Given the description of an element on the screen output the (x, y) to click on. 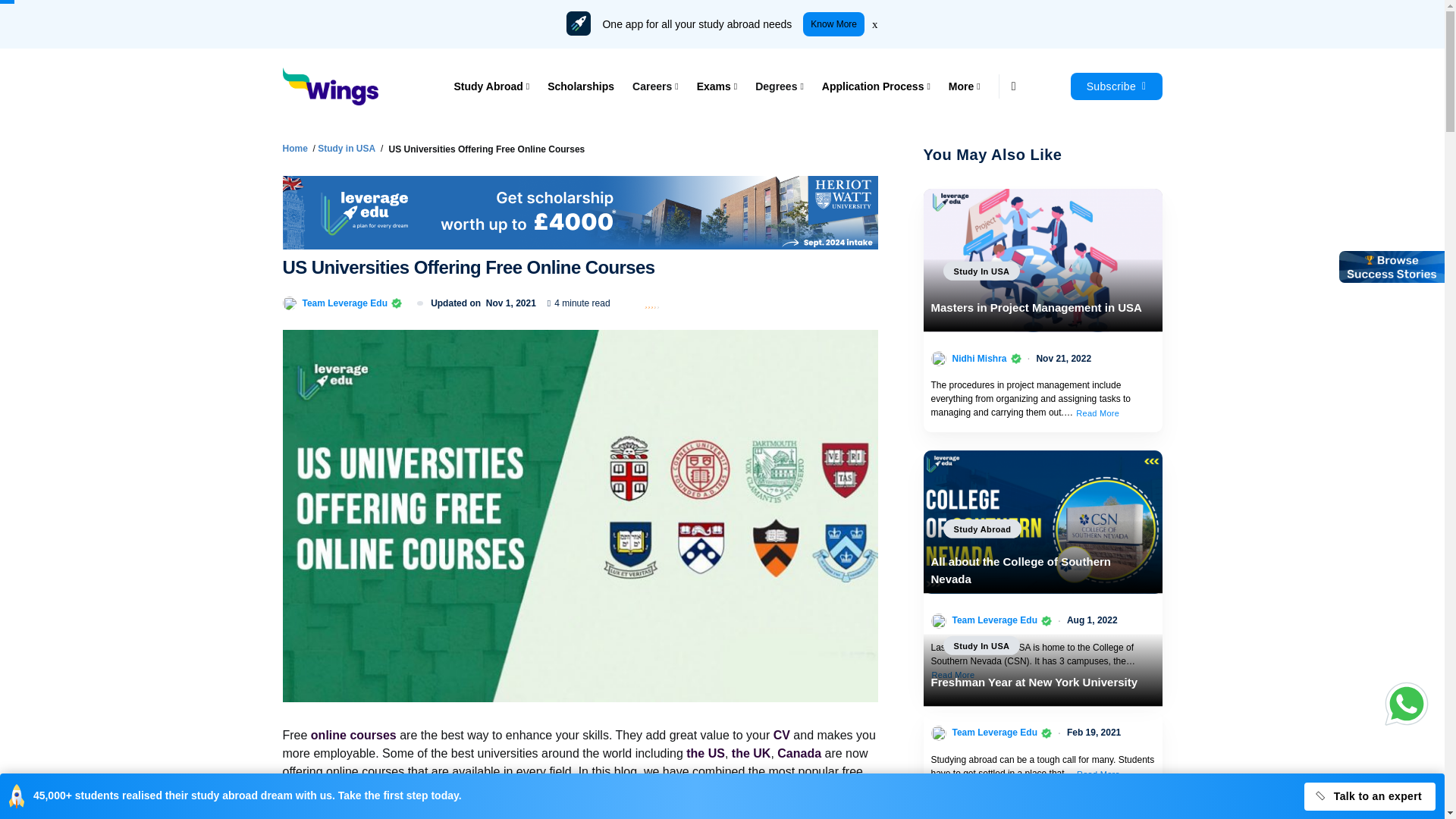
View all posts by Team Leverage Edu (995, 620)
View all posts by Team Leverage Edu (344, 302)
View all posts by Team Leverage Edu (995, 732)
View all posts by Nidhi Mishra (979, 358)
